Given the description of an element on the screen output the (x, y) to click on. 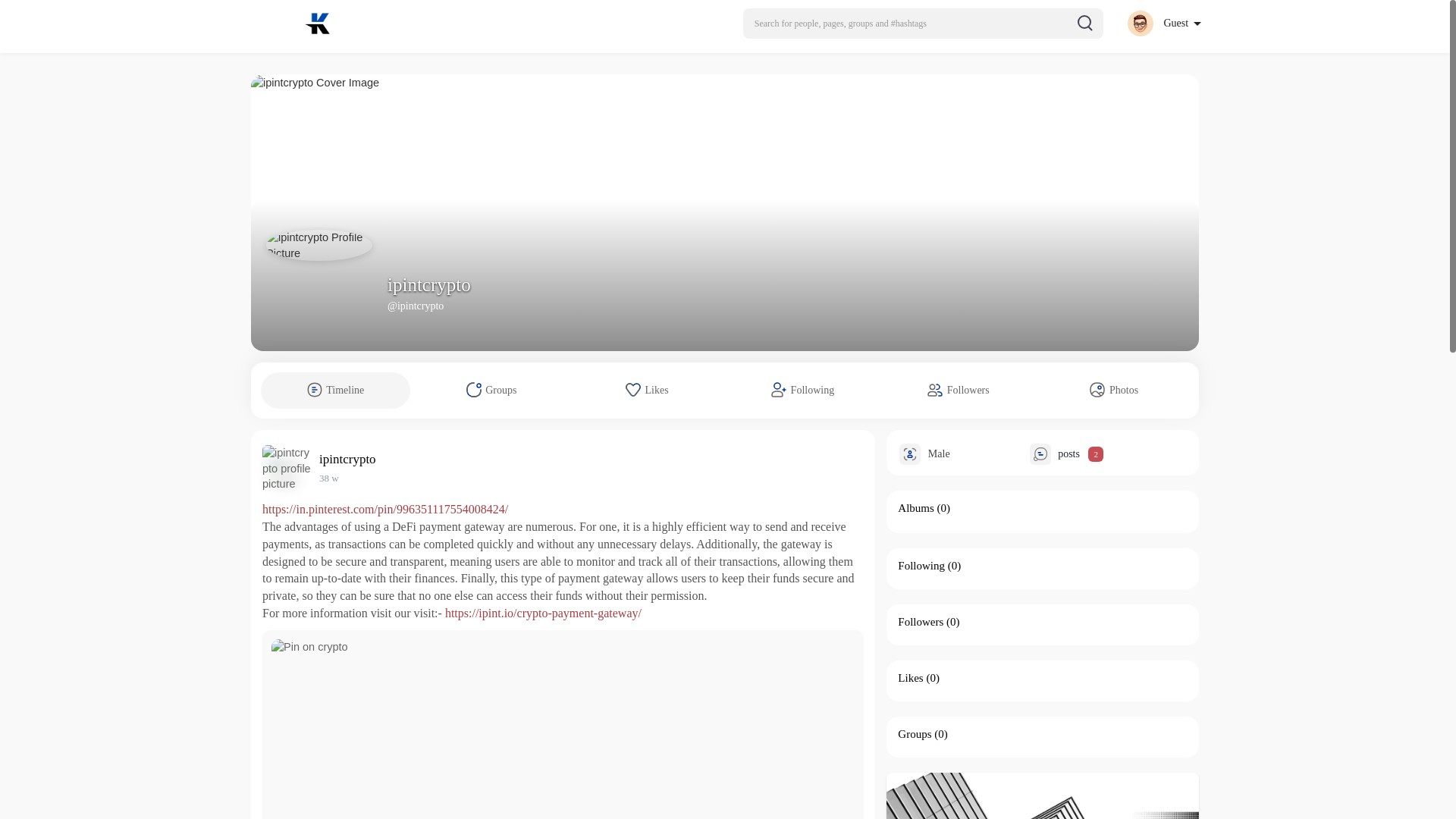
Photos (1114, 390)
Albums (916, 508)
Guest (1163, 23)
ipintcrypto (349, 459)
ipintcrypto (428, 284)
Groups (914, 734)
Likes (910, 677)
Timeline (335, 390)
Following (802, 390)
Following (921, 565)
Followers (920, 621)
38 w (328, 478)
Groups (491, 390)
Followers (957, 390)
Likes (647, 390)
